Given the description of an element on the screen output the (x, y) to click on. 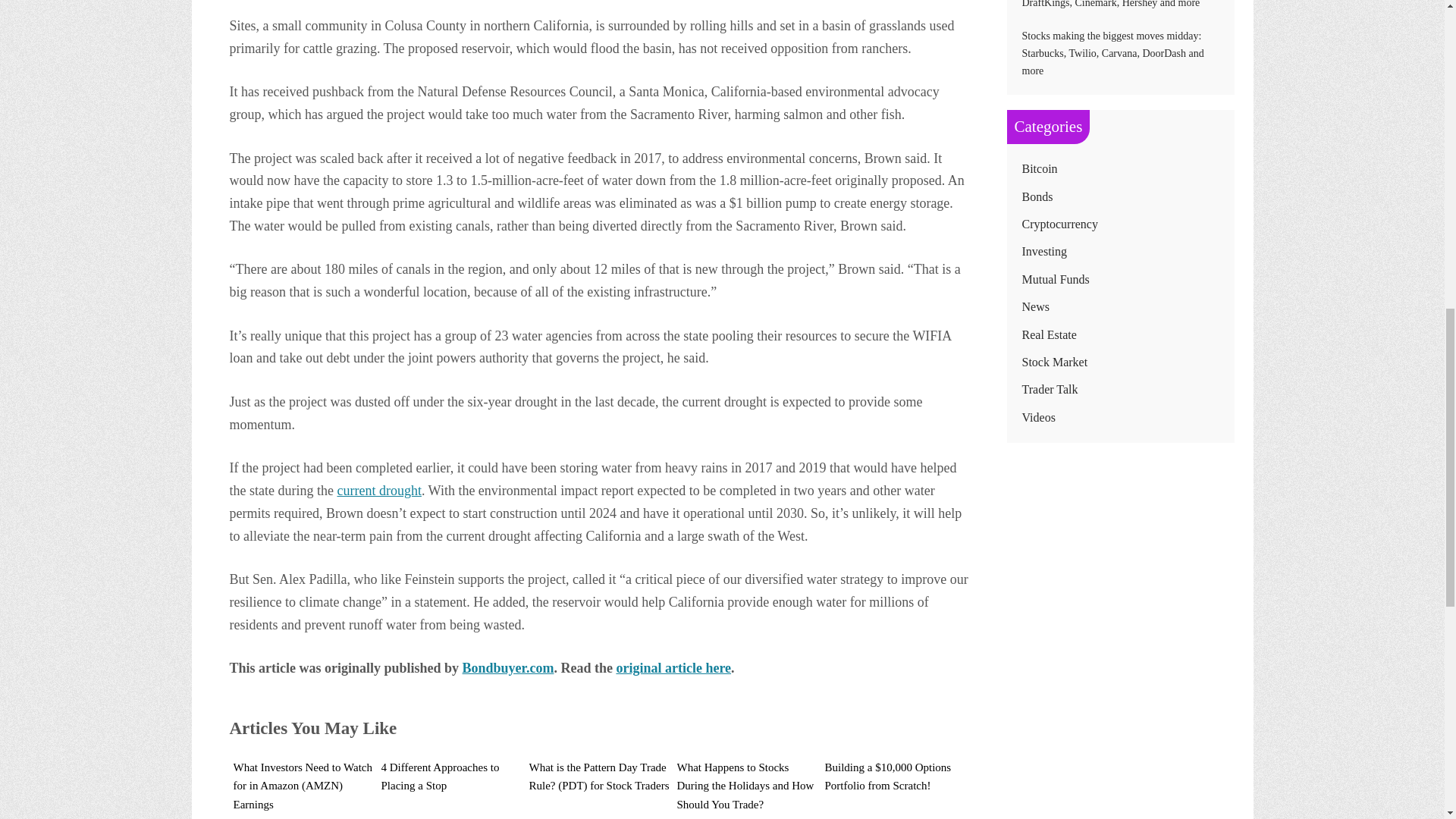
current drought (378, 490)
